Given the description of an element on the screen output the (x, y) to click on. 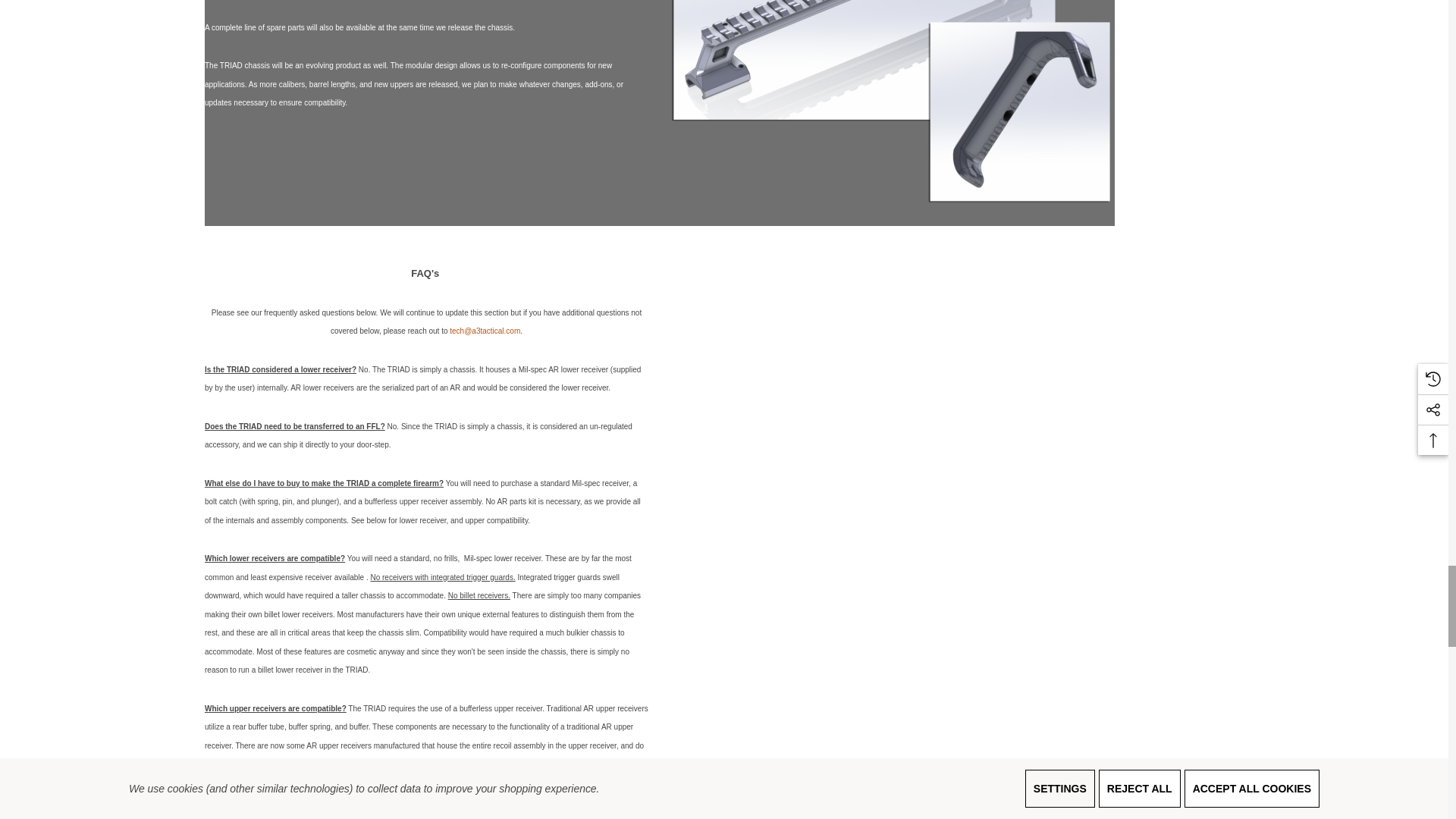
image176.jpg (871, 103)
